Given the description of an element on the screen output the (x, y) to click on. 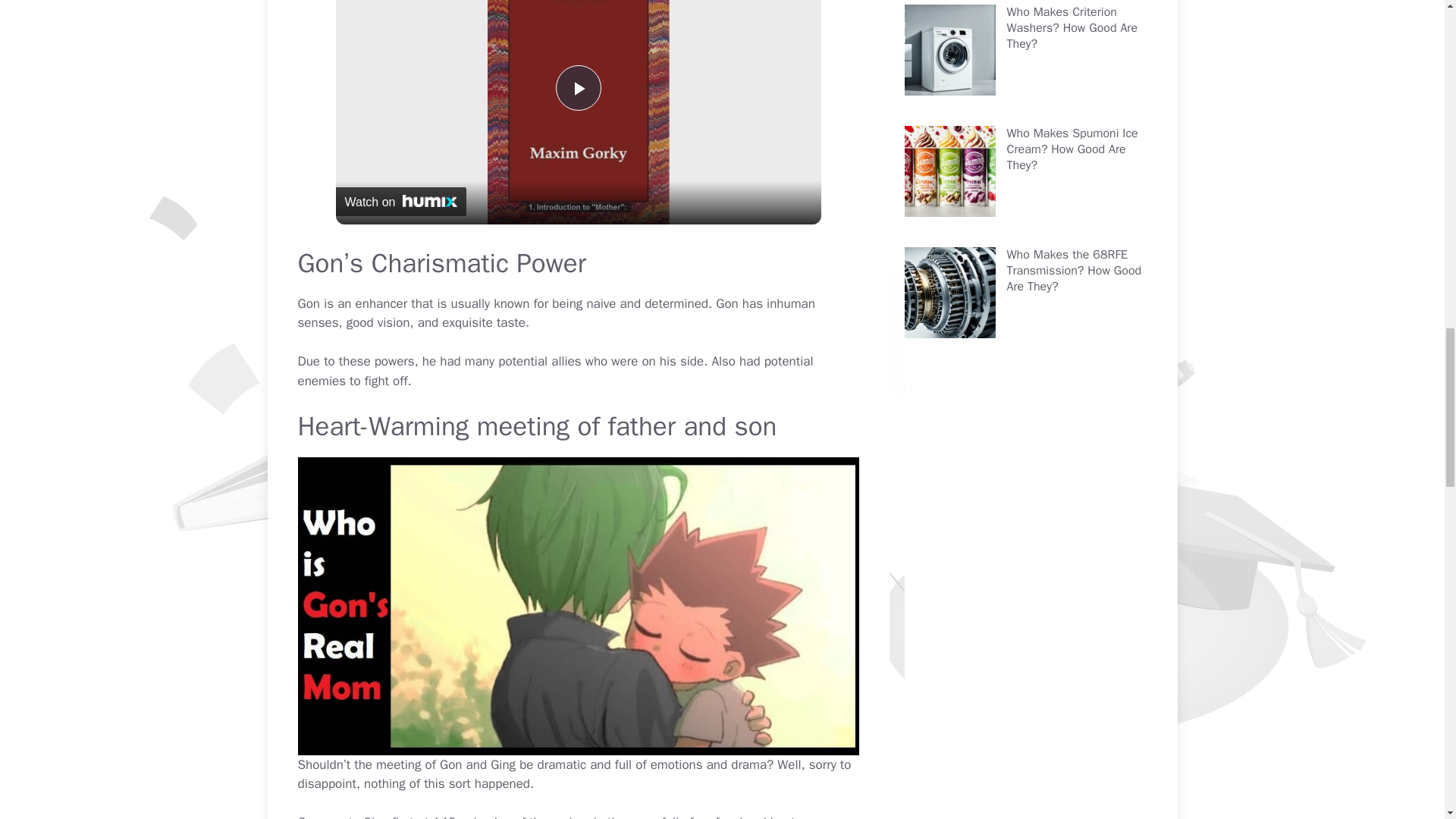
Play Video (576, 87)
Play Video (576, 87)
